Given the description of an element on the screen output the (x, y) to click on. 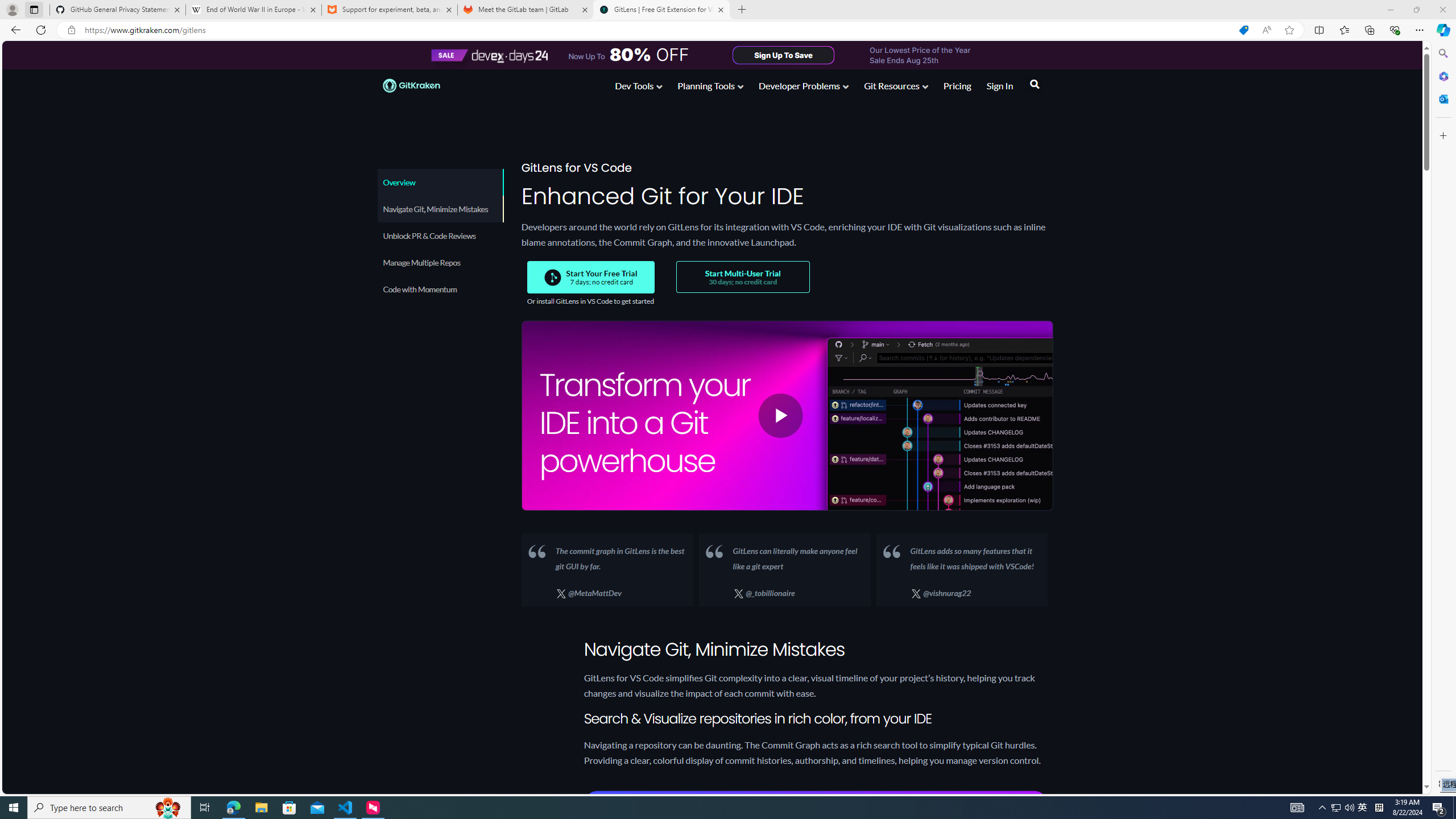
Start Multi-User Trial 30 days; no credit card (742, 277)
To get missing image descriptions, open the context menu. (552, 276)
GitLens | Free Git Extension for Visual Studio Code (660, 9)
Code with Momentum (439, 288)
Pricing (1335, 807)
Show desktop (957, 85)
Action Center, 2 new notifications (1454, 807)
